Given the description of an element on the screen output the (x, y) to click on. 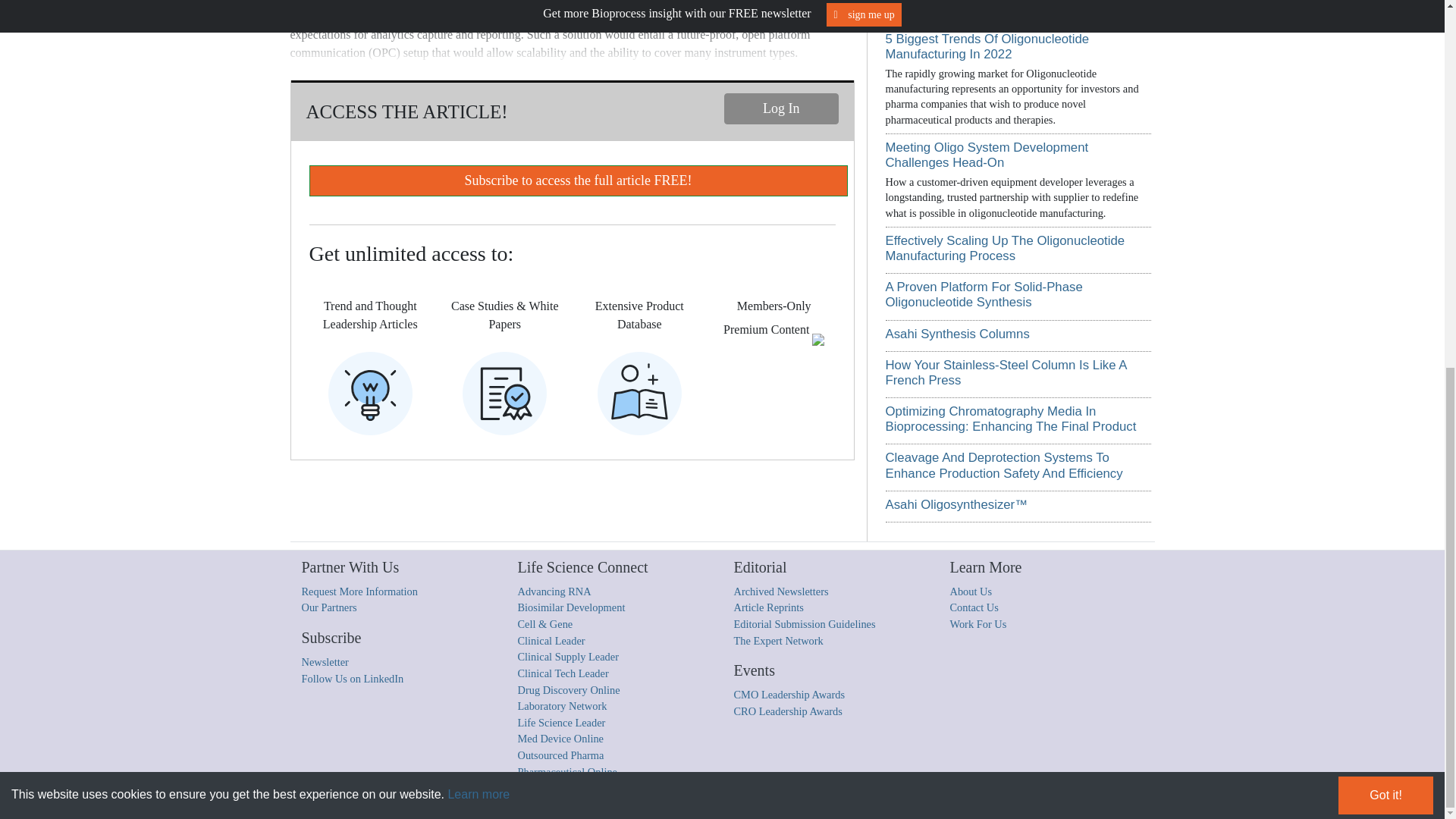
Log In (780, 108)
Subscribe to access the full article FREE! (577, 180)
